Given the description of an element on the screen output the (x, y) to click on. 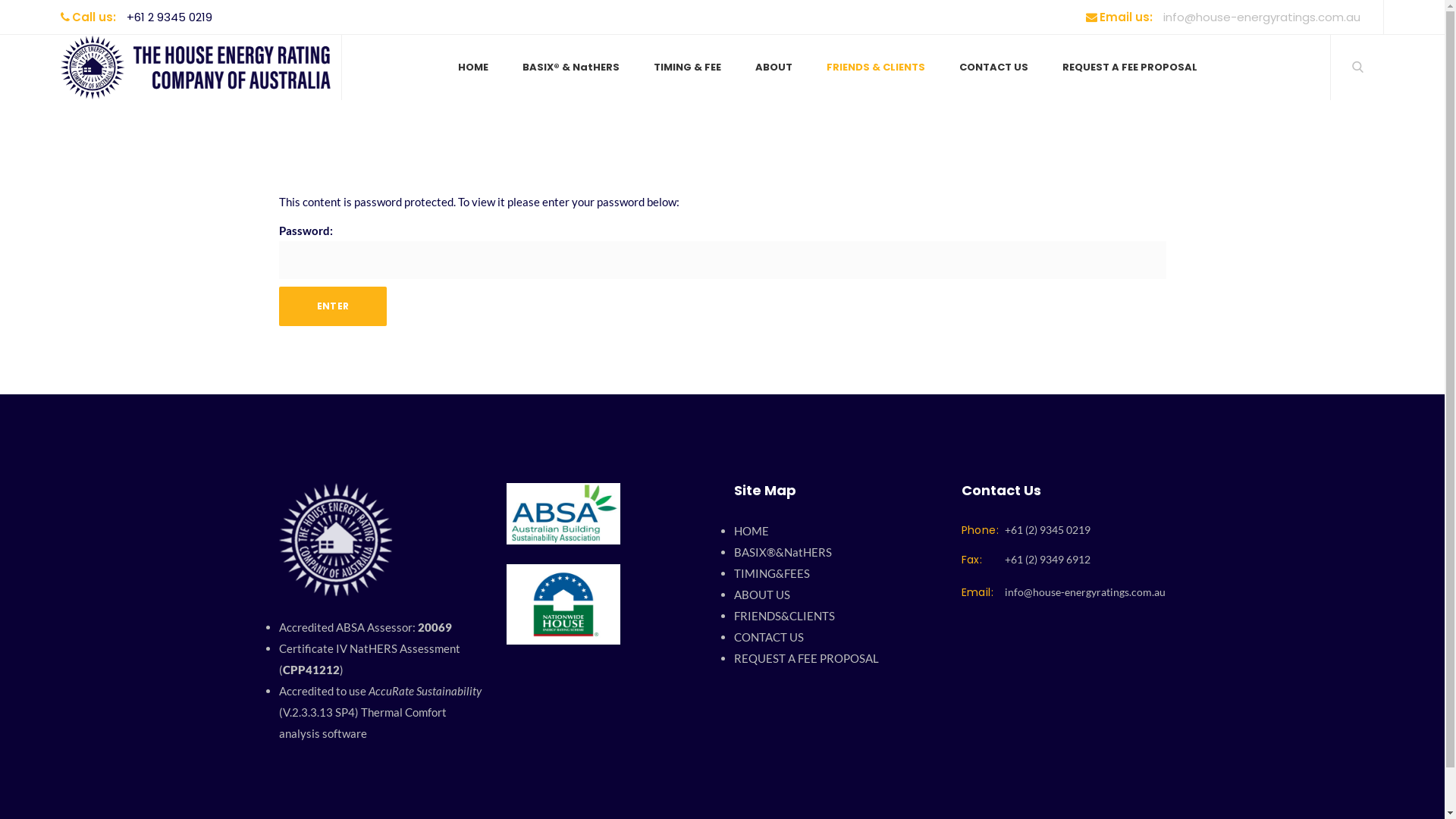
CONTACT US Element type: text (993, 67)
FRIENDS & CLIENTS Element type: text (875, 67)
info@house-energyratings.com.au Element type: text (1084, 591)
CONTACT US Element type: text (836, 636)
TIMING & FEE Element type: text (687, 67)
Enter Element type: text (333, 306)
FRIENDS&CLIENTS Element type: text (836, 615)
ABOUT Element type: text (773, 67)
HOME Element type: text (836, 530)
info@house-energyratings.com.au Element type: text (1261, 17)
HOME Element type: text (481, 67)
ABOUT US Element type: text (836, 594)
TIMING&FEES Element type: text (836, 572)
REQUEST A FEE PROPOSAL Element type: text (836, 657)
REQUEST A FEE PROPOSAL Element type: text (1120, 67)
